Given the description of an element on the screen output the (x, y) to click on. 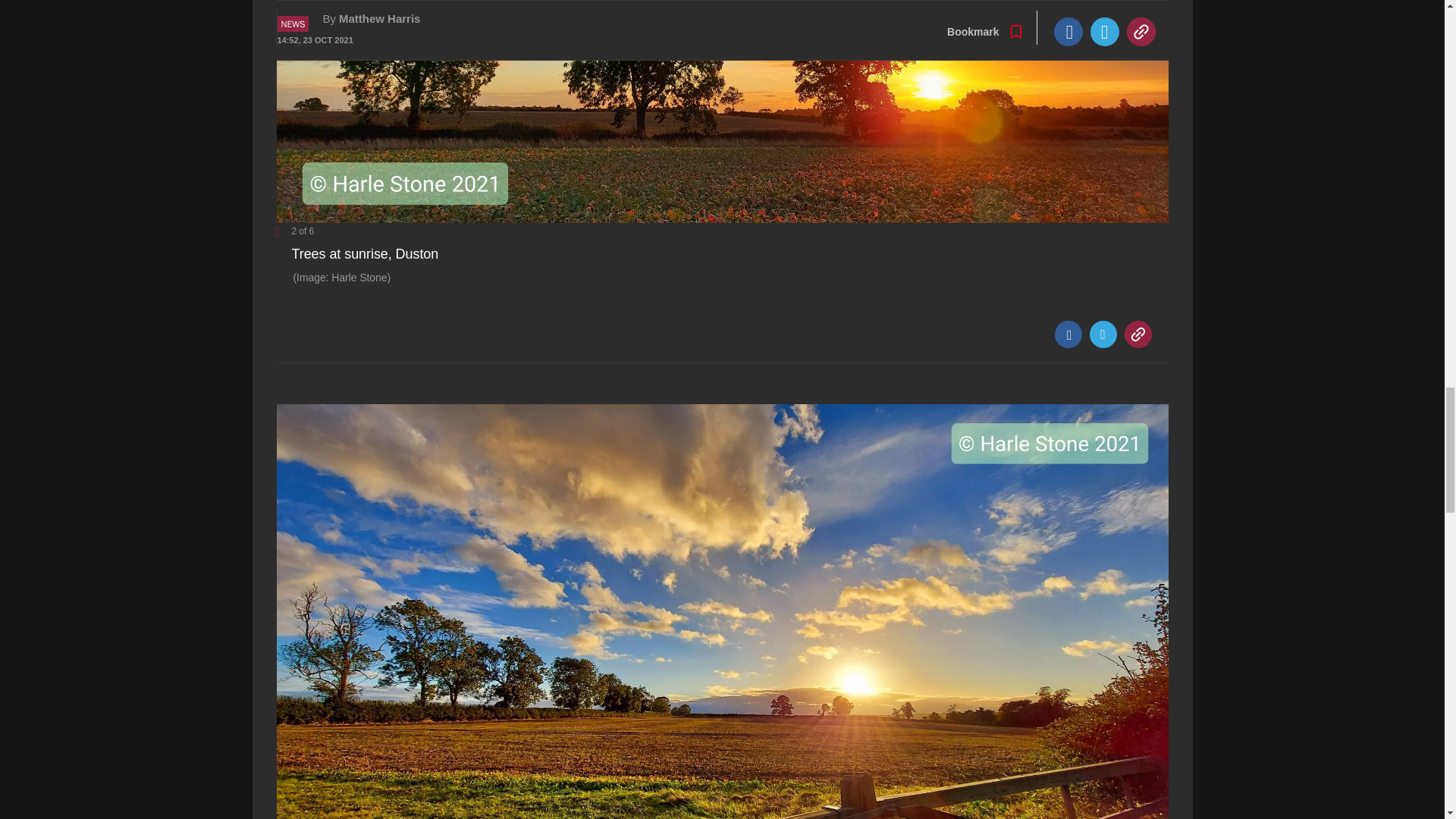
Twitter (1102, 333)
Facebook (1067, 333)
